Given the description of an element on the screen output the (x, y) to click on. 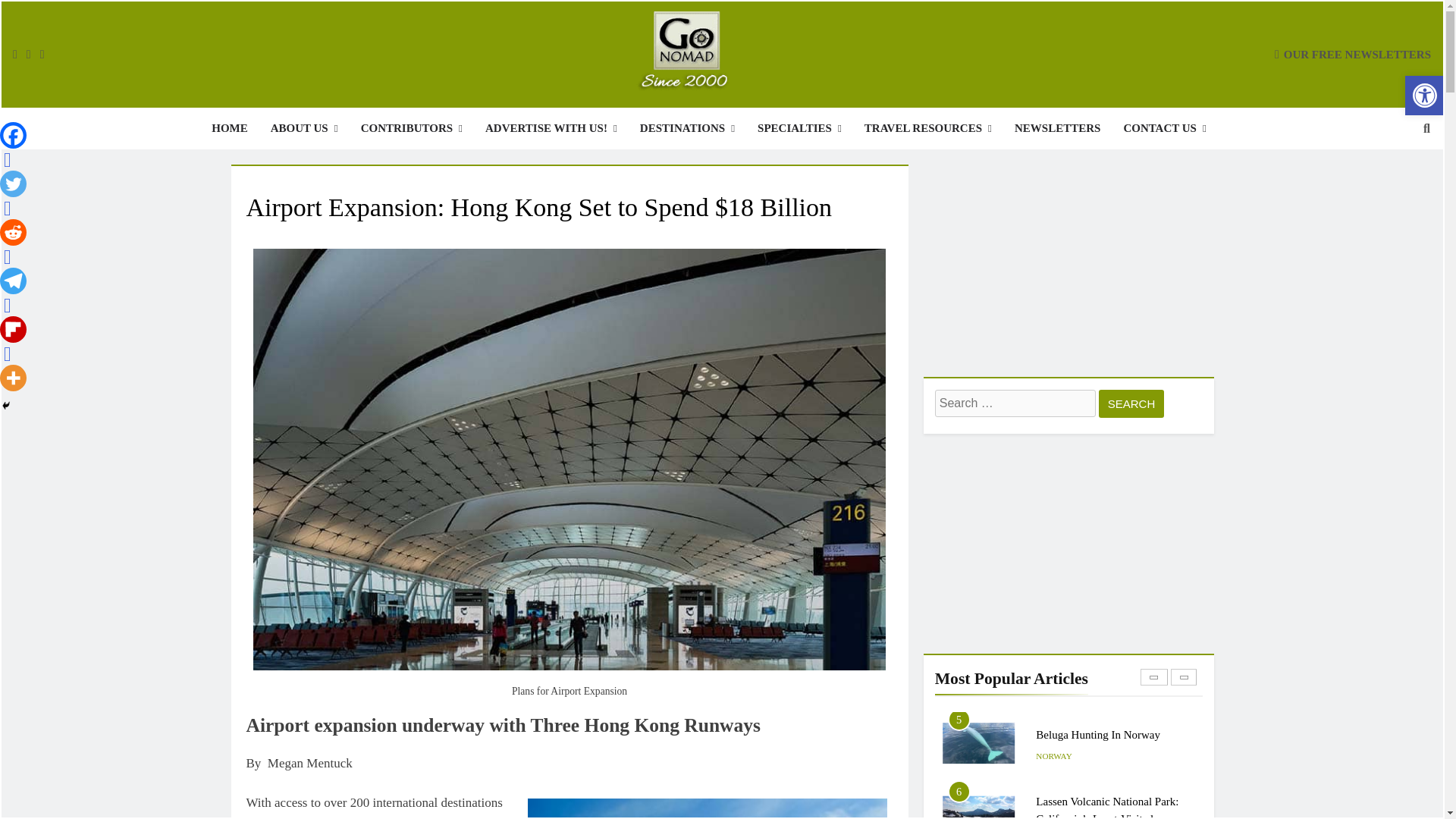
ADVERTISE WITH US! (551, 128)
HOME (229, 127)
Search (1131, 403)
OUR FREE NEWSLETTERS (1353, 52)
Airport community. Hong Kong International Airport Photos. (707, 805)
CONTRIBUTORS (411, 128)
ABOUT US (304, 128)
Accessibility Tools (1424, 95)
Search (1131, 403)
GoNOMAD Travel (437, 119)
